Given the description of an element on the screen output the (x, y) to click on. 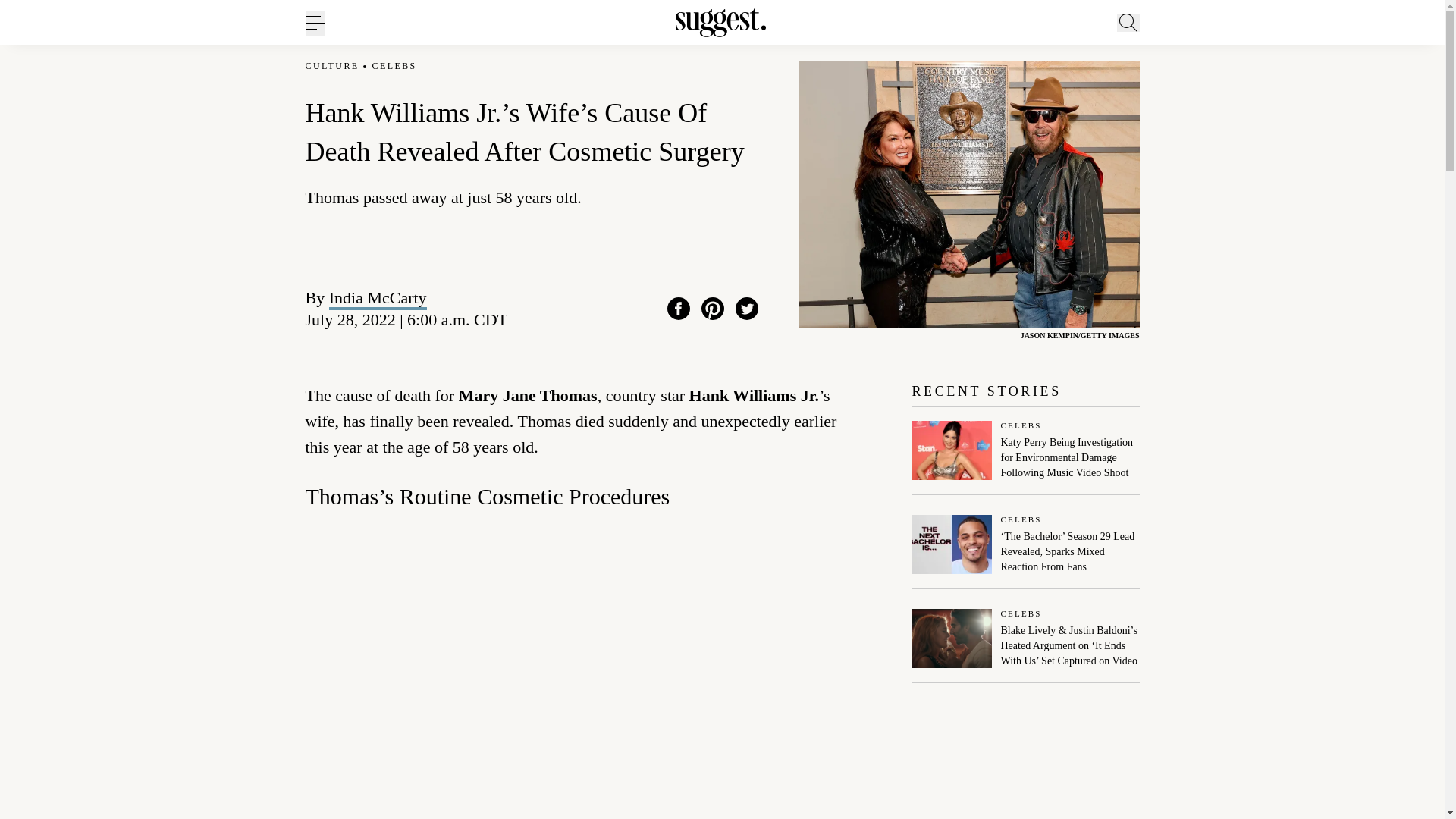
India McCarty (377, 297)
CELEBS (394, 66)
Celebs (1070, 426)
Twitter (746, 308)
Facebook (678, 308)
Suggest (720, 22)
Celebs (1070, 520)
Pinterest (712, 308)
